Given the description of an element on the screen output the (x, y) to click on. 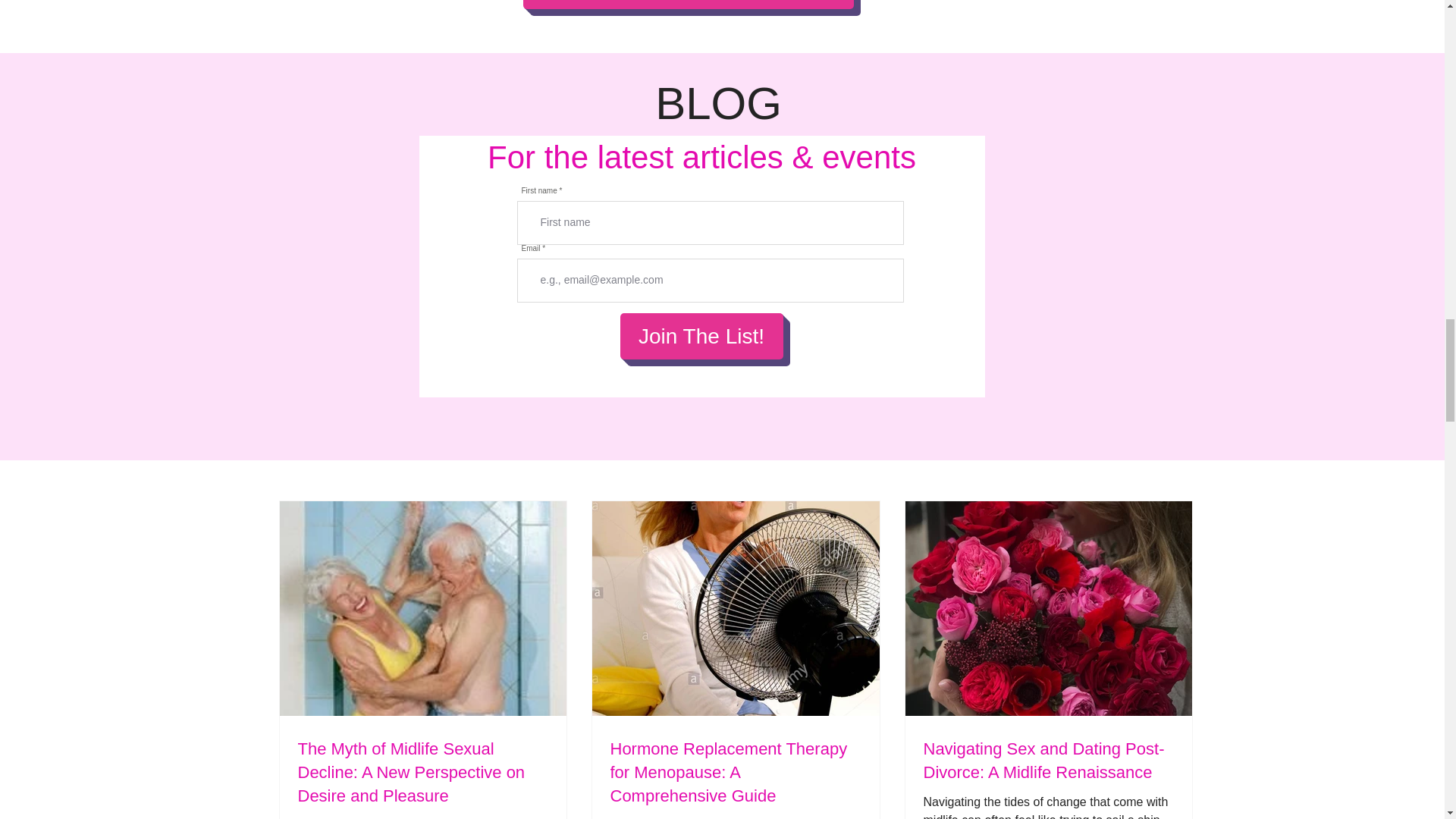
Join The List! (701, 335)
TELL ME THE TRUTH! (687, 4)
